Given the description of an element on the screen output the (x, y) to click on. 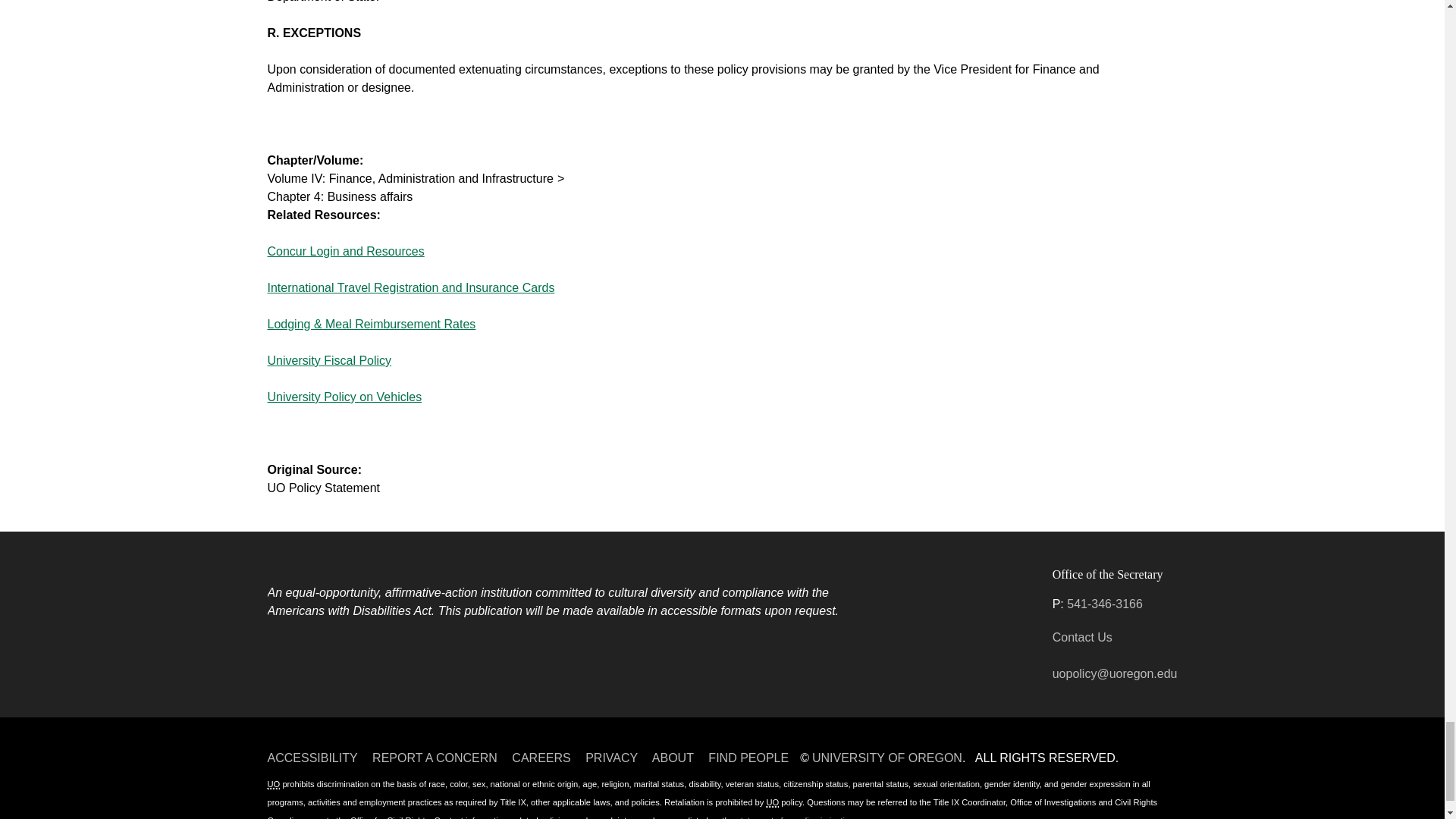
statement of non-discrimination (794, 817)
Contact Us (1082, 636)
ACCESSIBILITY (311, 757)
University of Oregon (771, 802)
International Travel Registration and Insurance Cards (410, 287)
University Fiscal Policy (328, 359)
UNIVERSITY OF OREGON (887, 757)
541-346-3166 (1104, 603)
REPORT A CONCERN (434, 757)
University of Oregon (272, 784)
ABOUT (673, 757)
FIND PEOPLE (748, 757)
PRIVACY (611, 757)
CAREERS (541, 757)
Concur Login and Resources (344, 250)
